Given the description of an element on the screen output the (x, y) to click on. 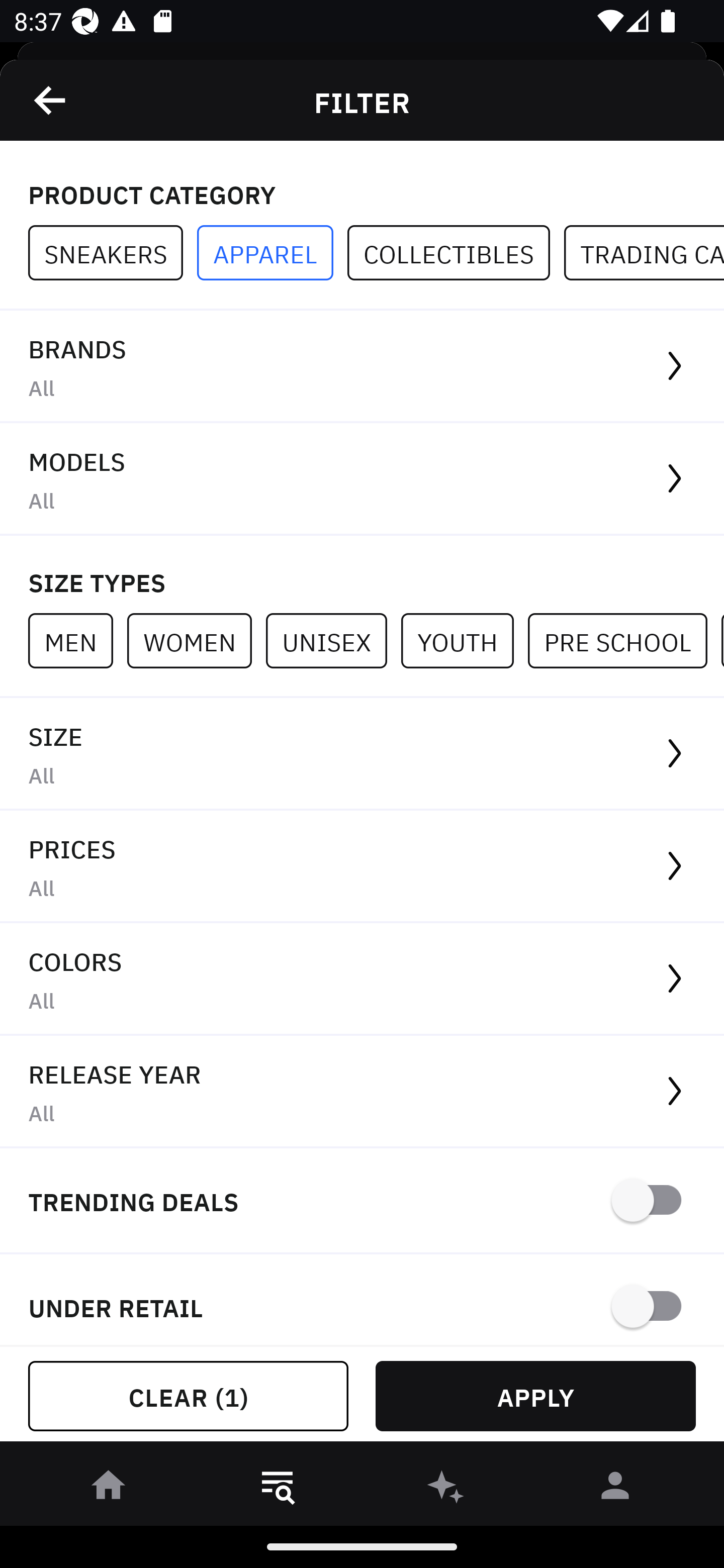
 (50, 100)
SNEAKERS (112, 252)
APPAREL (271, 252)
COLLECTIBLES (455, 252)
TRADING CARDS (643, 252)
BRANDS All (362, 366)
MODELS All (362, 479)
MEN (77, 640)
WOMEN (196, 640)
UNISEX (333, 640)
YOUTH (464, 640)
PRE SCHOOL (624, 640)
SIZE All (362, 753)
PRICES All (362, 866)
COLORS All (362, 979)
RELEASE YEAR All (362, 1091)
TRENDING DEALS (362, 1200)
UNDER RETAIL (362, 1299)
CLEAR (1) (188, 1396)
APPLY (535, 1396)
󰋜 (108, 1488)
󱎸 (277, 1488)
󰫢 (446, 1488)
󰀄 (615, 1488)
